Given the description of an element on the screen output the (x, y) to click on. 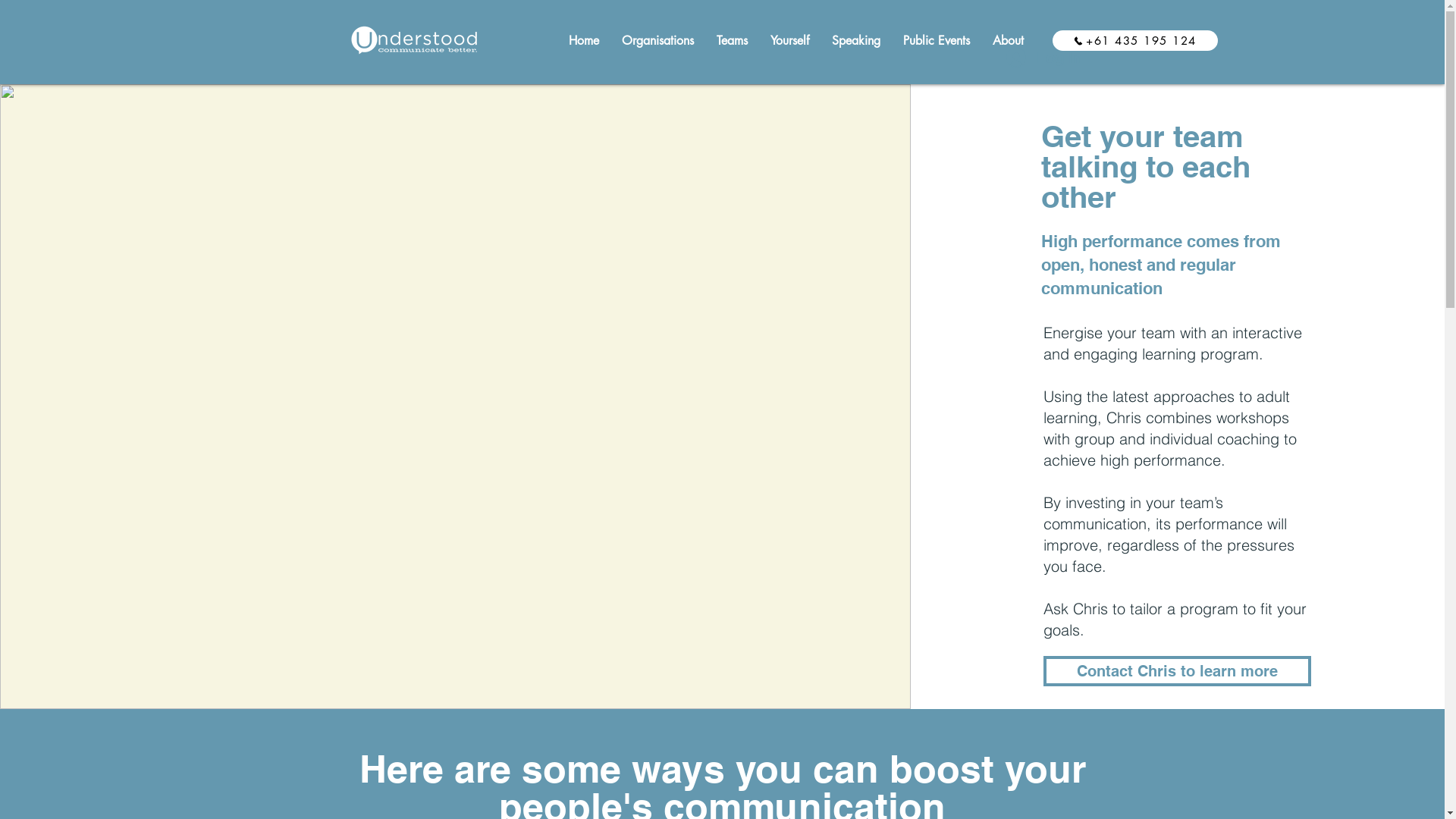
Home Element type: text (582, 40)
Organisations Element type: text (656, 40)
Speaking Element type: text (855, 40)
Yourself Element type: text (788, 40)
+61 435 195 124 Element type: text (1134, 40)
Public Events Element type: text (936, 40)
Contact Chris to learn more Element type: text (1177, 670)
Log In Element type: text (1039, 57)
About Element type: text (1008, 40)
Teams Element type: text (732, 40)
